Given the description of an element on the screen output the (x, y) to click on. 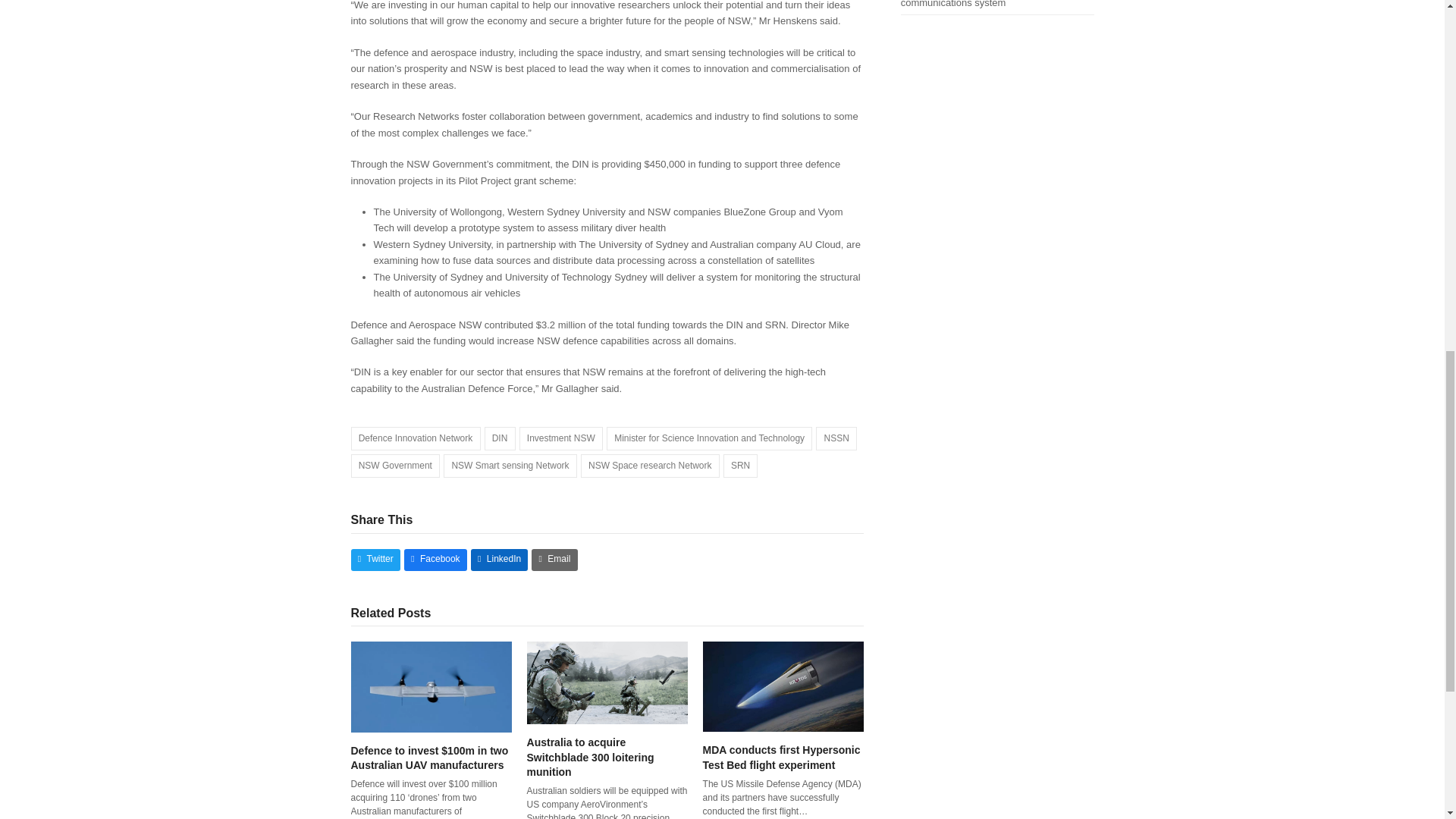
Defence Innovation Network (415, 438)
LinkedIn (499, 559)
MDA conducts first Hypersonic Test Bed flight experiment (781, 757)
Investment NSW (560, 438)
NSSN (836, 438)
Australia to acquire Switchblade 300 loitering munition (607, 681)
Twitter (375, 559)
Facebook (435, 559)
SRN (740, 465)
Australia to acquire Switchblade 300 loitering munition (590, 757)
MDA conducts first Hypersonic Test Bed flight experiment (783, 685)
Email (553, 559)
NSW Smart sensing Network (510, 465)
Minister for Science Innovation and Technology (709, 438)
DIN (499, 438)
